Given the description of an element on the screen output the (x, y) to click on. 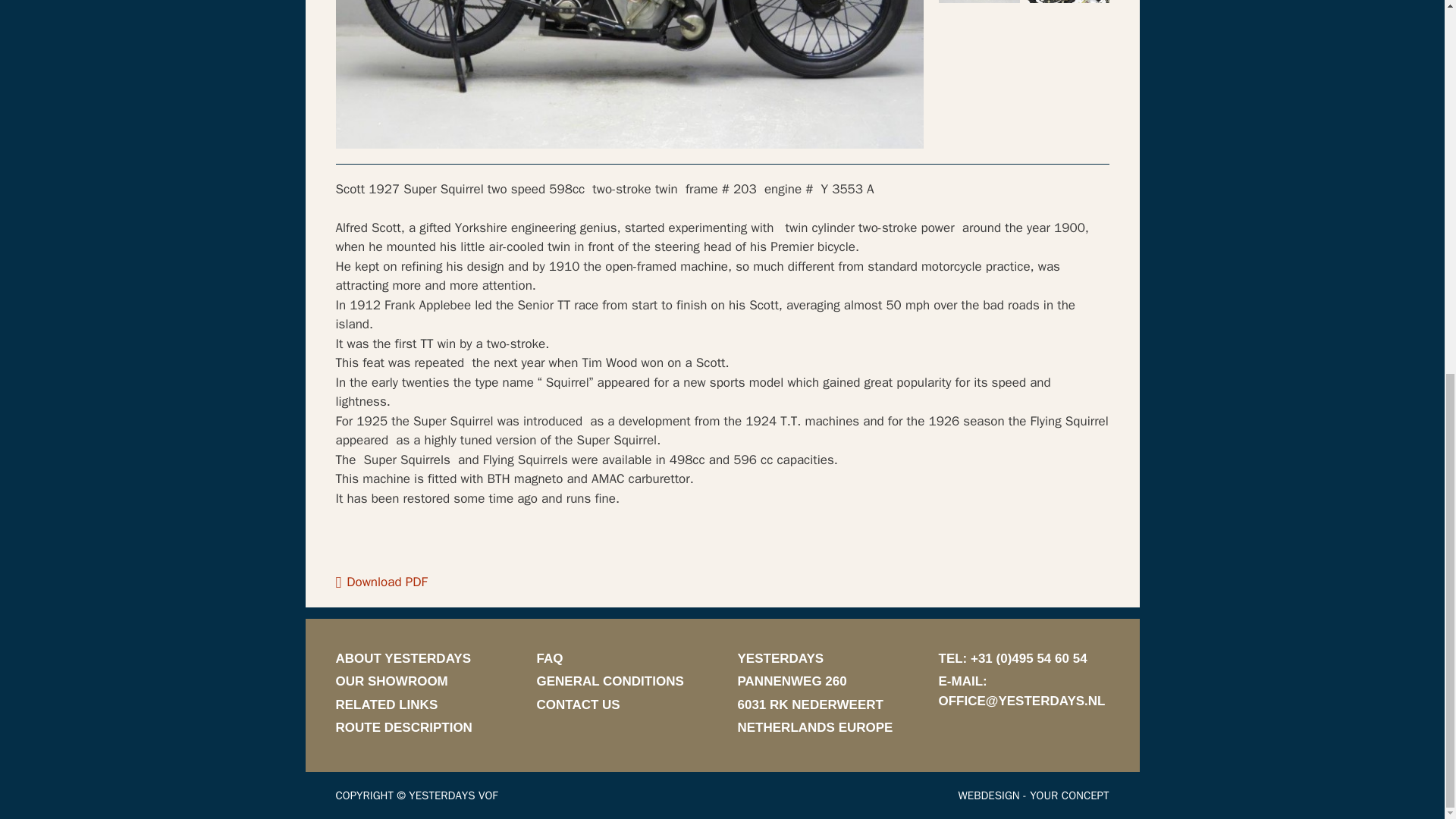
Scott-1927-2603-7 (1068, 1)
Scott-1927-2603-6 (979, 1)
Scott-1927-2603-1 (628, 74)
